Given the description of an element on the screen output the (x, y) to click on. 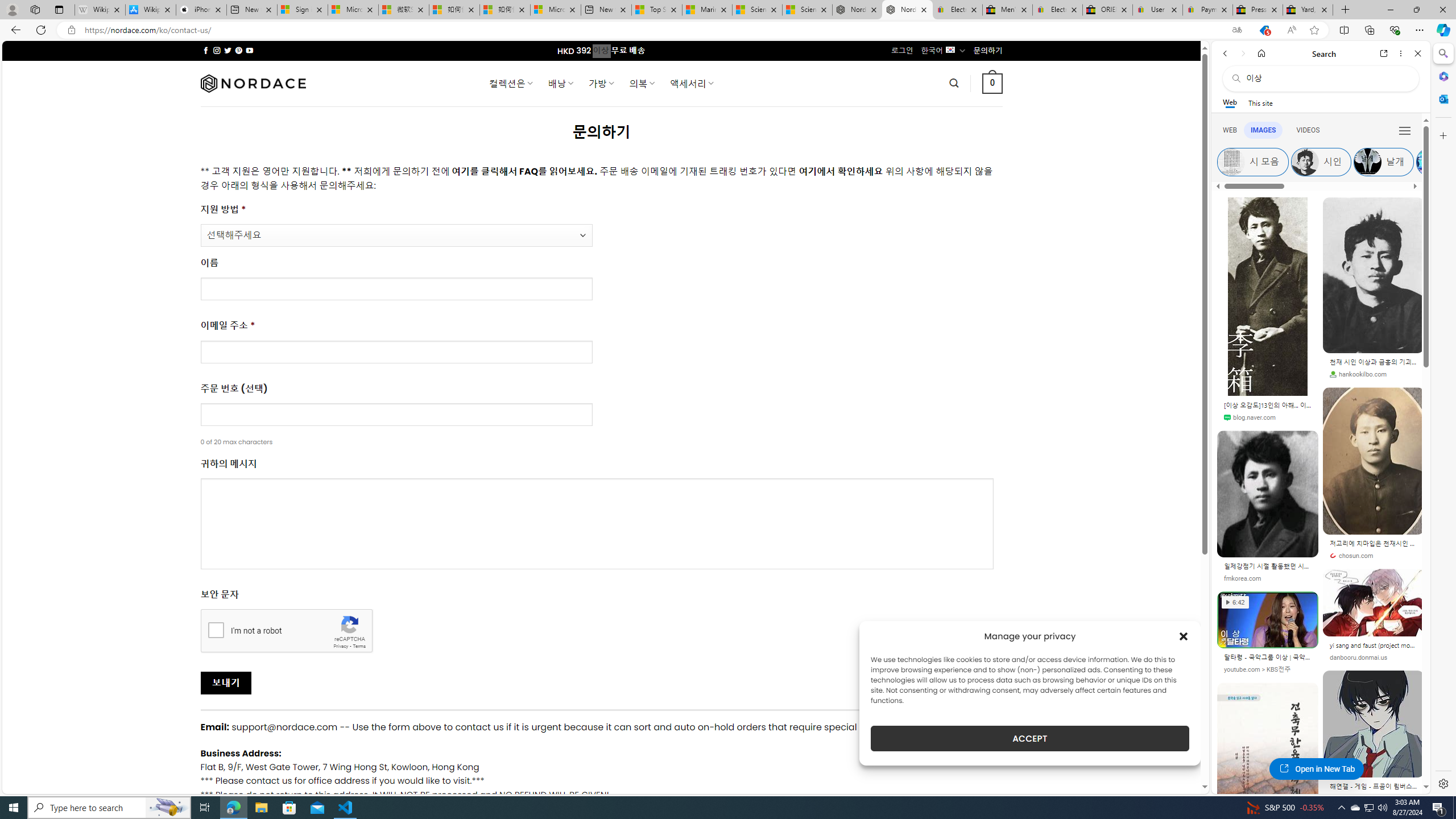
6:42 (1234, 602)
I'm not a robot (216, 629)
  0   (992, 83)
